Given the description of an element on the screen output the (x, y) to click on. 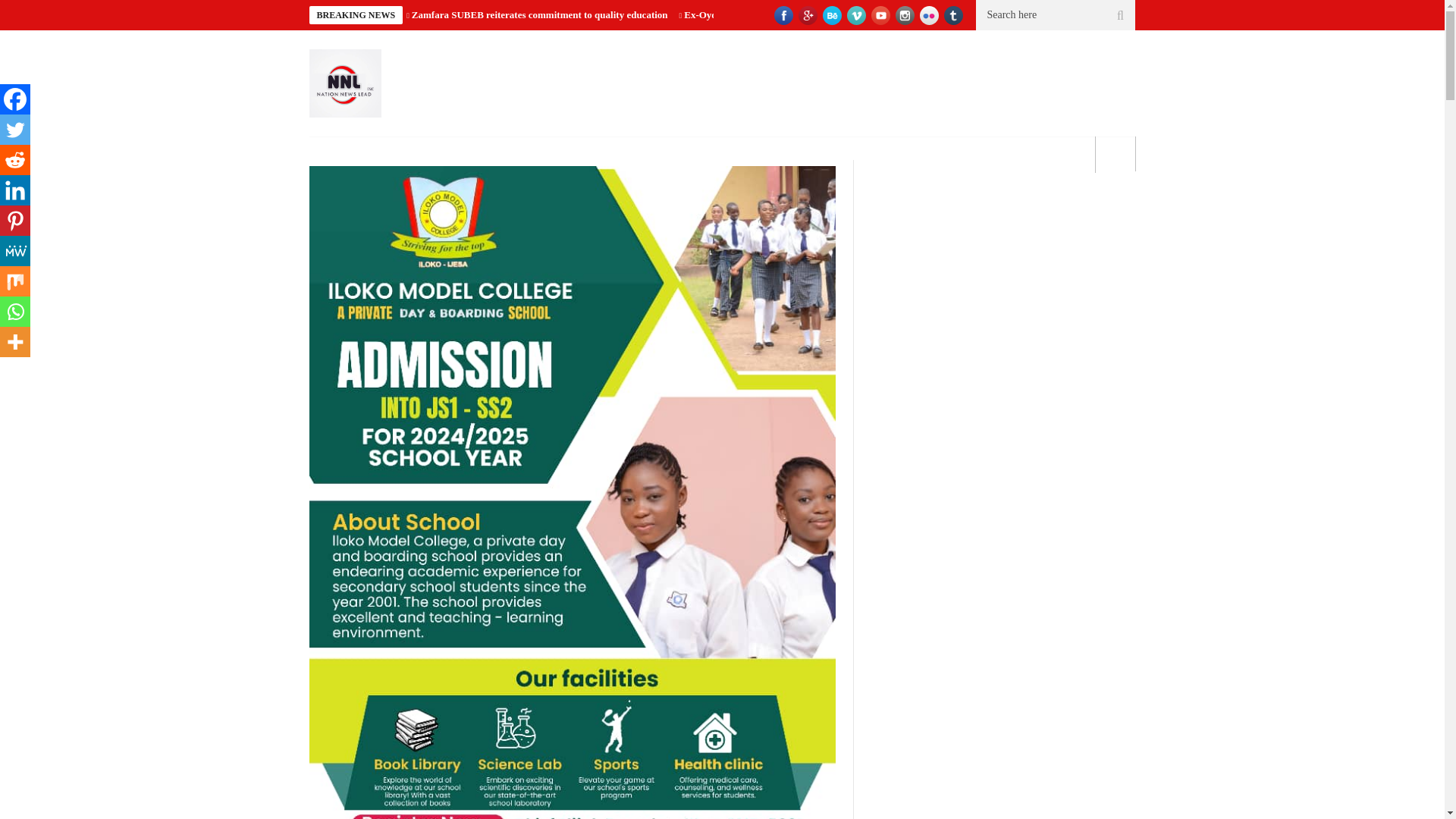
Zamfara SUBEB reiterates commitment to quality education (540, 14)
